Given the description of an element on the screen output the (x, y) to click on. 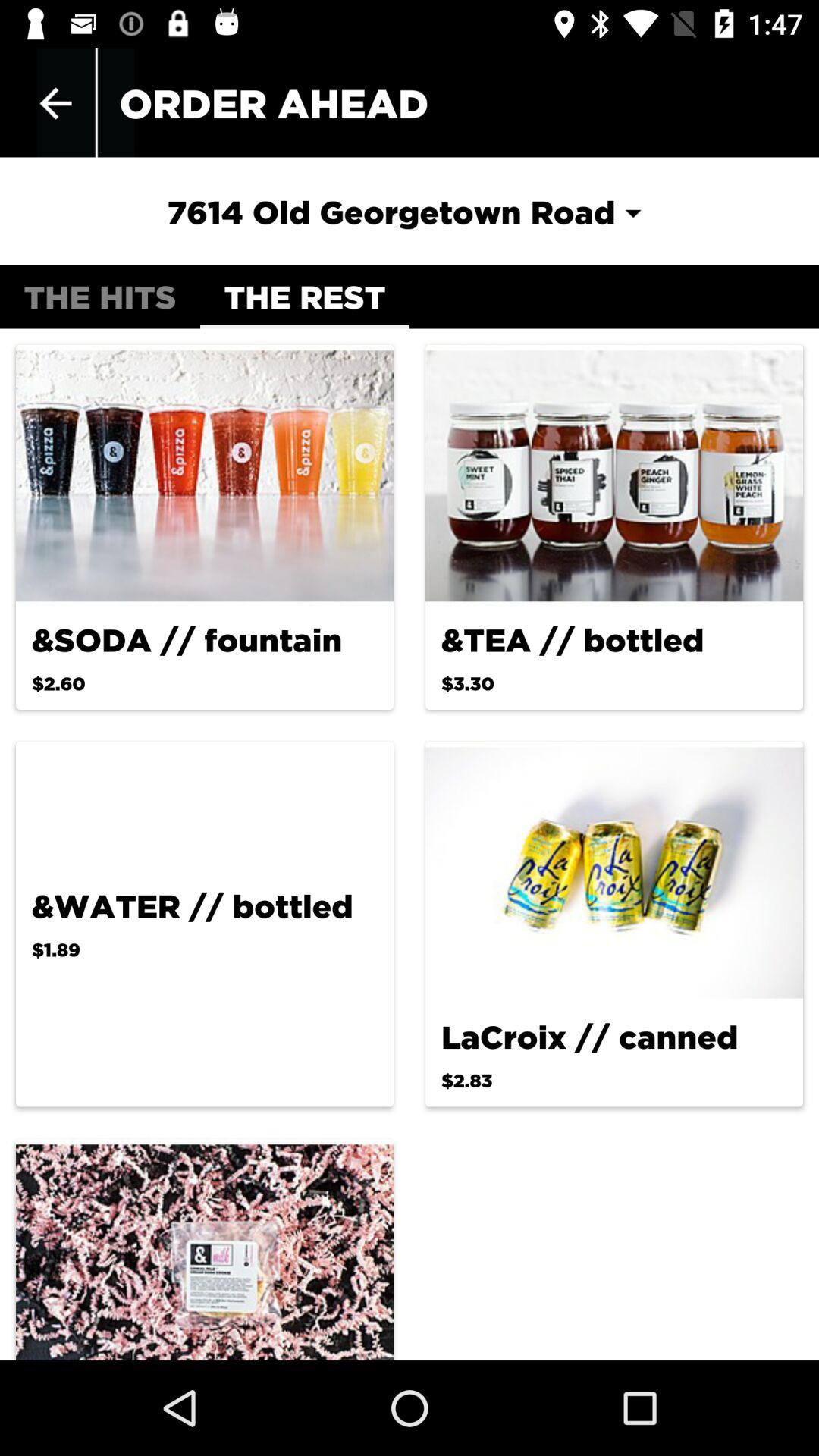
flip until the 7614 old georgetown item (409, 212)
